Given the description of an element on the screen output the (x, y) to click on. 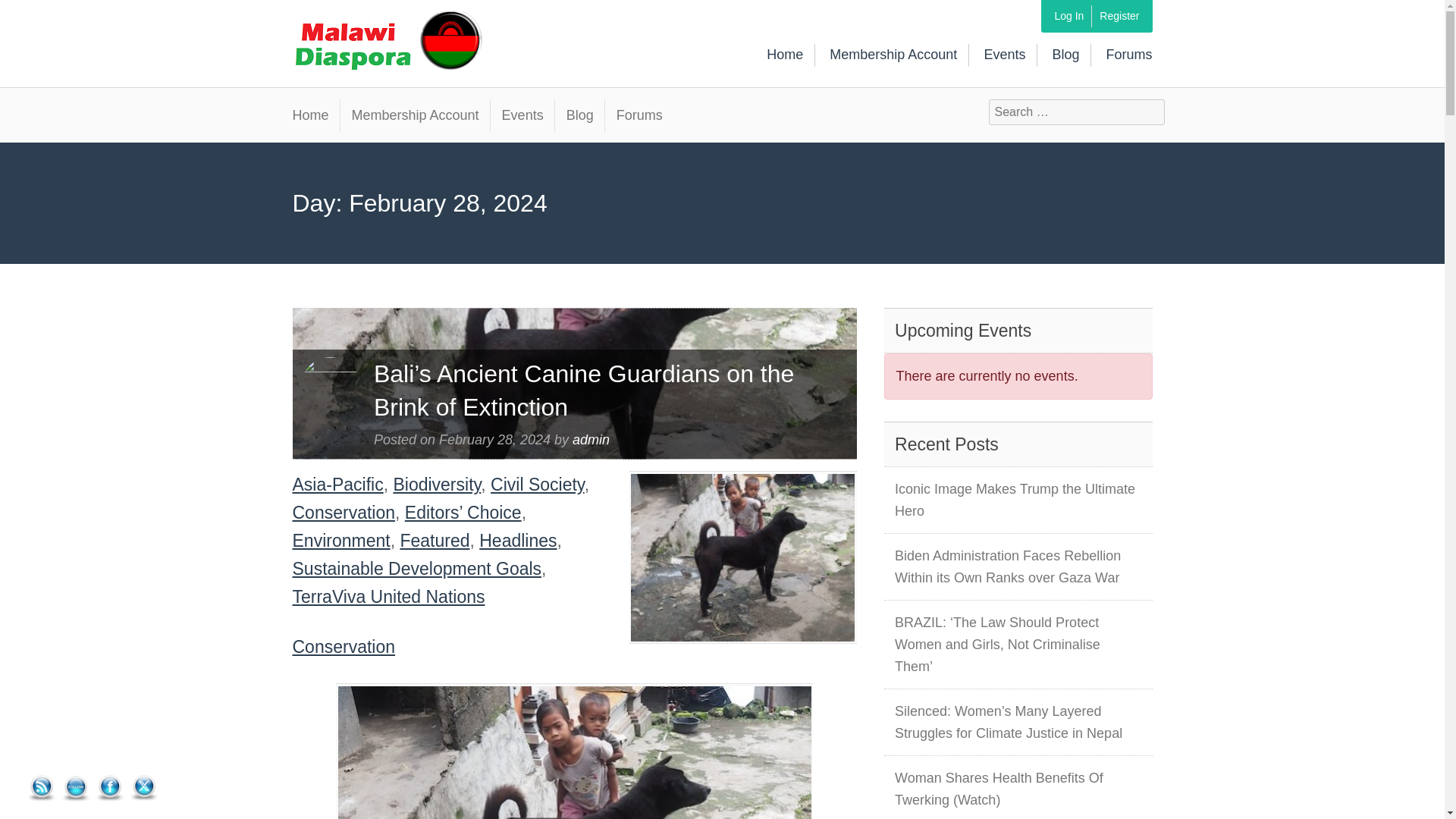
View all posts in Opinion (344, 646)
RSS (41, 787)
Blog (579, 114)
Follow by Email (75, 788)
Log In (1068, 15)
Home (316, 114)
Home (785, 55)
Membership Account (414, 114)
Twitter (143, 786)
Events (521, 114)
Malawi Diaspora (381, 26)
Forums (1128, 55)
Membership Account (892, 55)
Events (1004, 55)
Forums (638, 114)
